Given the description of an element on the screen output the (x, y) to click on. 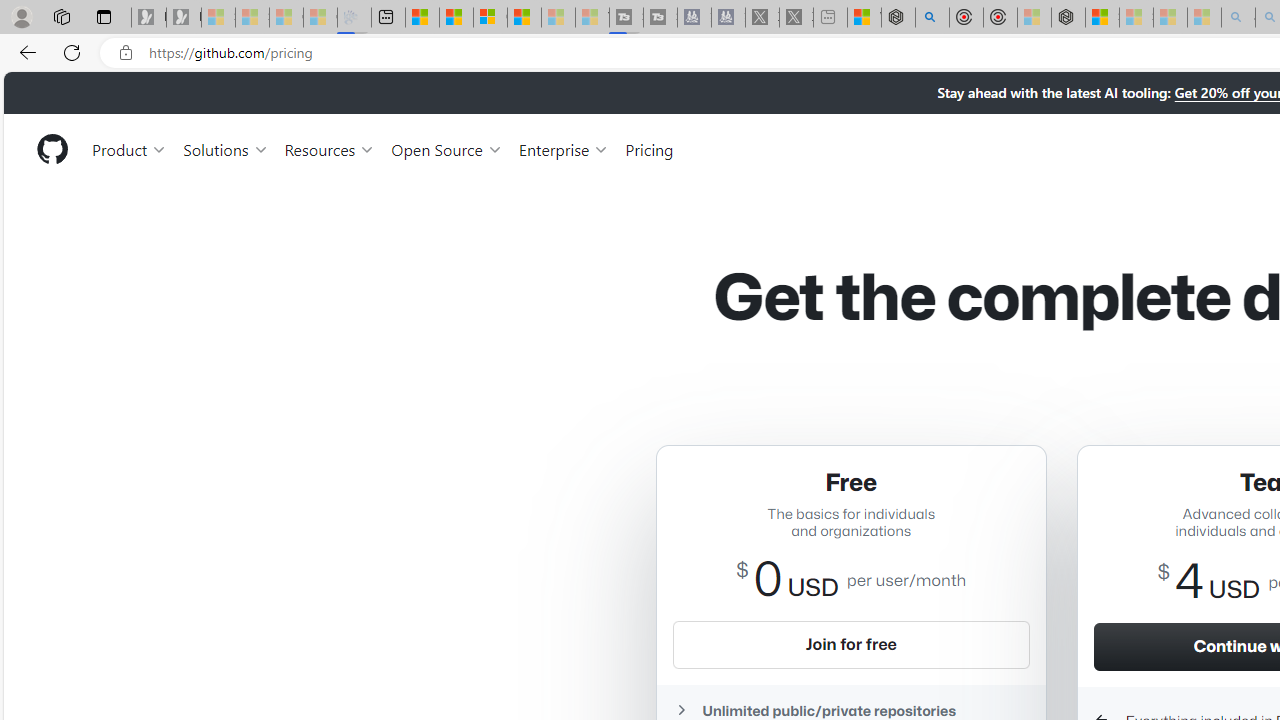
Open Source (446, 148)
Nordace - Summer Adventures 2024 (898, 17)
Pricing (649, 148)
Overview (489, 17)
Solutions (225, 148)
poe - Search (932, 17)
X - Sleeping (795, 17)
amazon - Search - Sleeping (1238, 17)
Enterprise (563, 148)
